Given the description of an element on the screen output the (x, y) to click on. 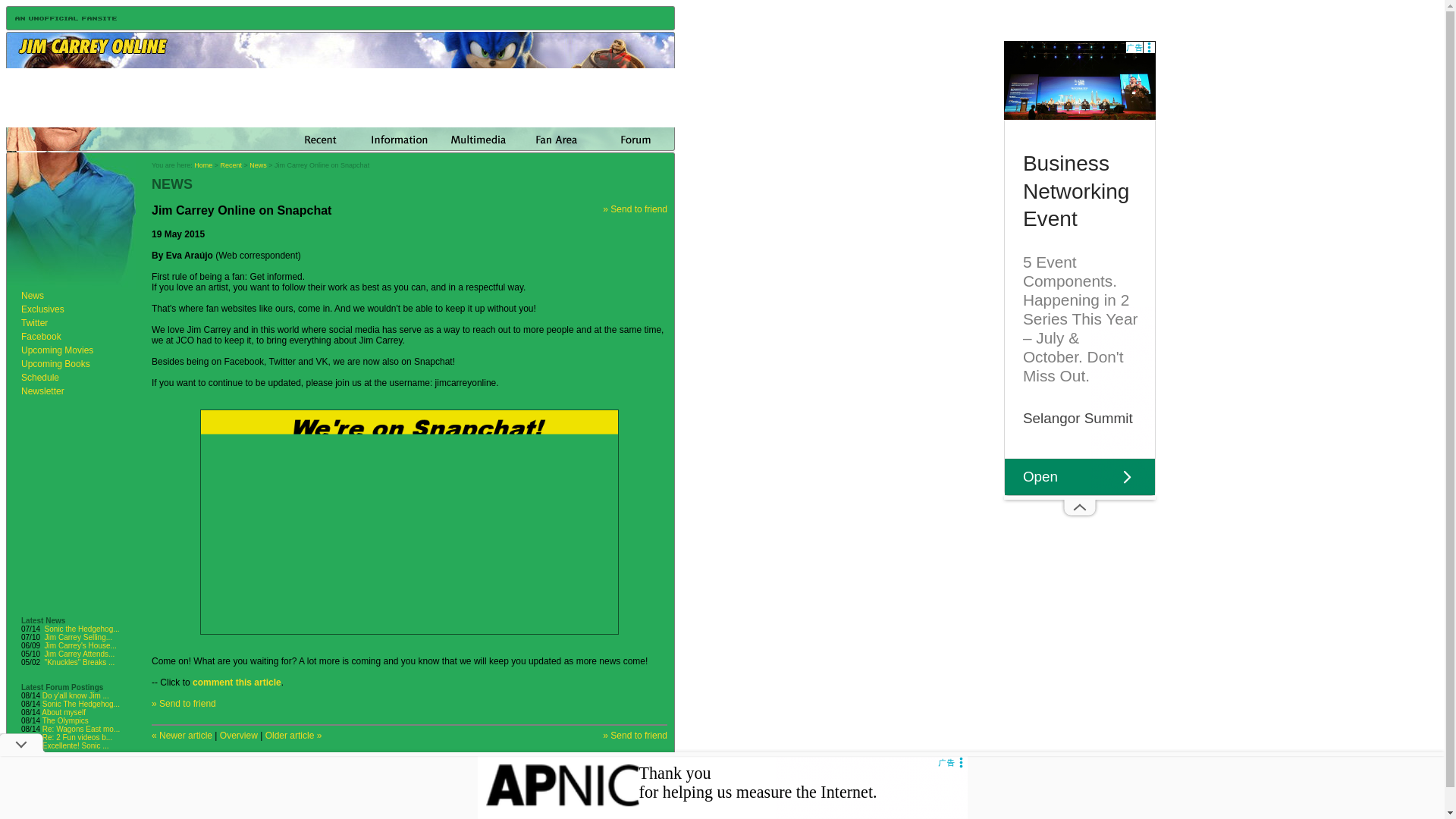
Advertisement (722, 787)
Sonic the Hedgehog 3 is complete (82, 628)
Jim Carrey Selling Personal Items (78, 637)
Jim Carrey's House Price Reduced (80, 645)
Jim Carrey Attends Jeff Ross Comedy Show (80, 654)
Advertisement (340, 796)
